Given the description of an element on the screen output the (x, y) to click on. 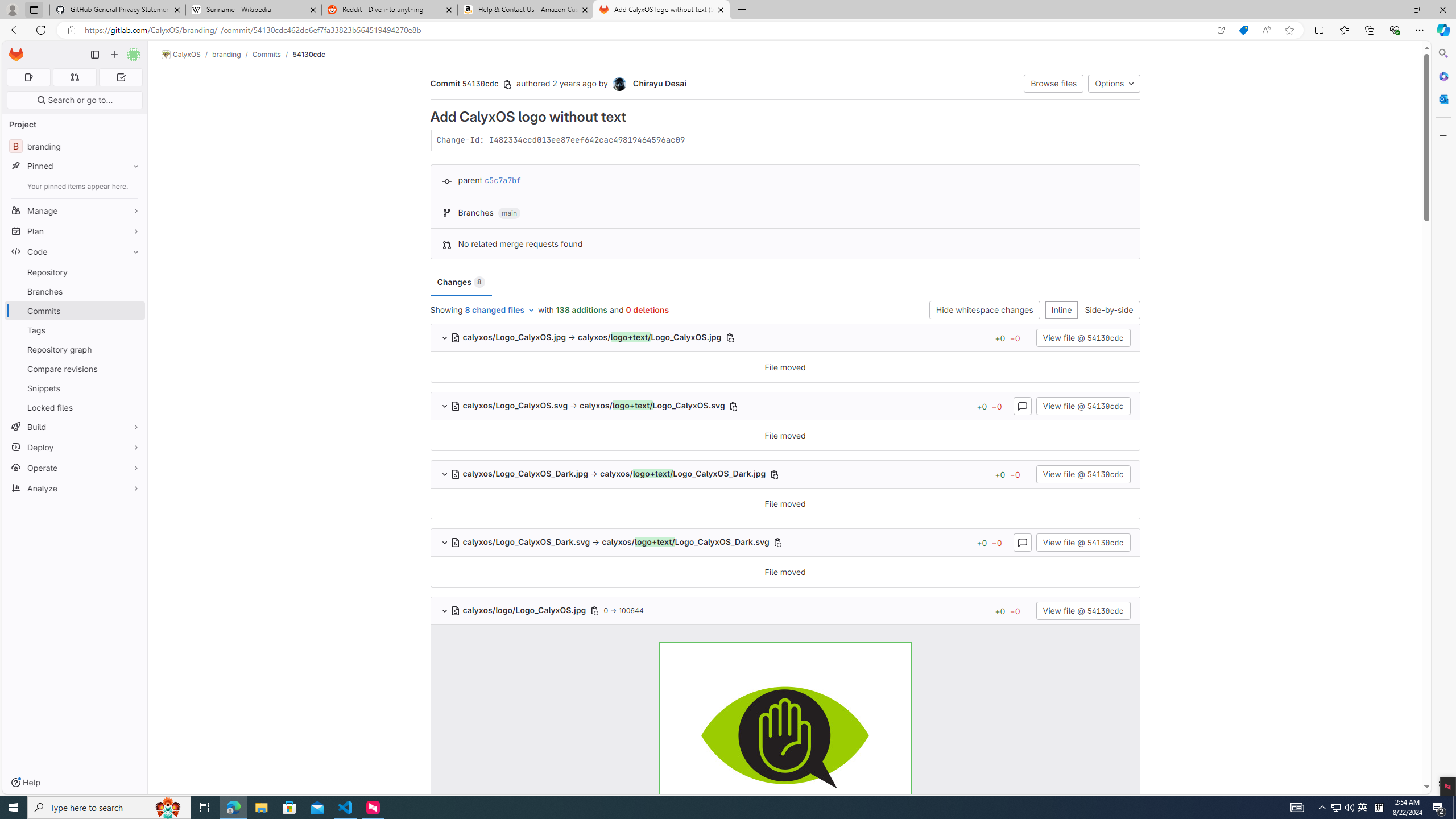
Tags (74, 330)
54130cdc (309, 53)
Deploy (74, 447)
Copy commit SHA (507, 83)
Plan (74, 230)
Repository graph (74, 348)
